Given the description of an element on the screen output the (x, y) to click on. 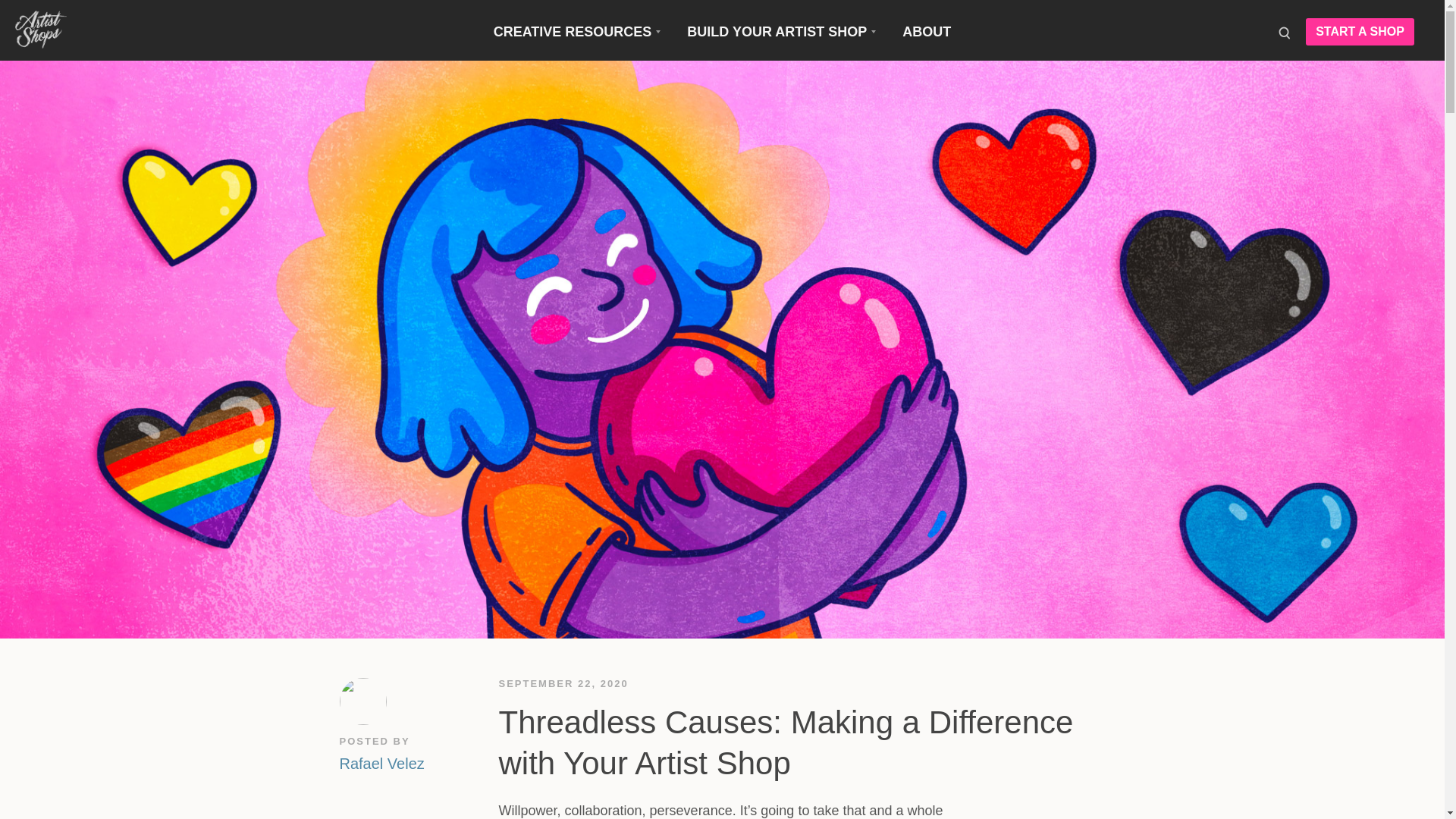
ABOUT (926, 31)
SEPTEMBER 22, 2020 (563, 683)
START A SHOP (1359, 31)
Search (1283, 32)
Search (1283, 32)
BUILD YOUR ARTIST SHOP (781, 31)
Rafael Velez (382, 761)
CREATIVE RESOURCES (577, 31)
Search (1283, 32)
